Given the description of an element on the screen output the (x, y) to click on. 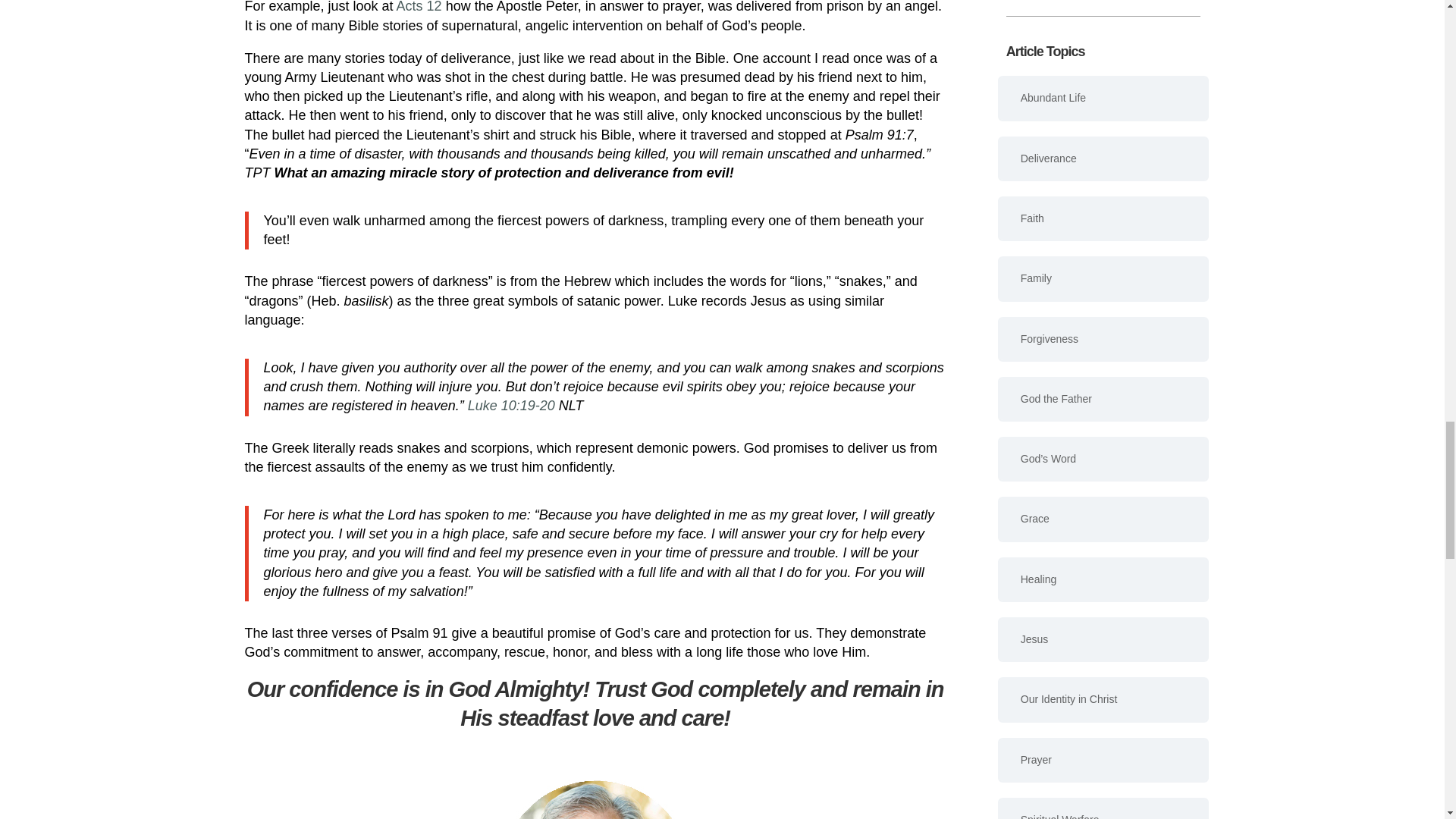
Luke 10:19-20 (509, 405)
Deliverance (1102, 158)
Abundant Life (1102, 98)
Faith (1102, 218)
Family (1102, 278)
Acts 12 (419, 6)
